Given the description of an element on the screen output the (x, y) to click on. 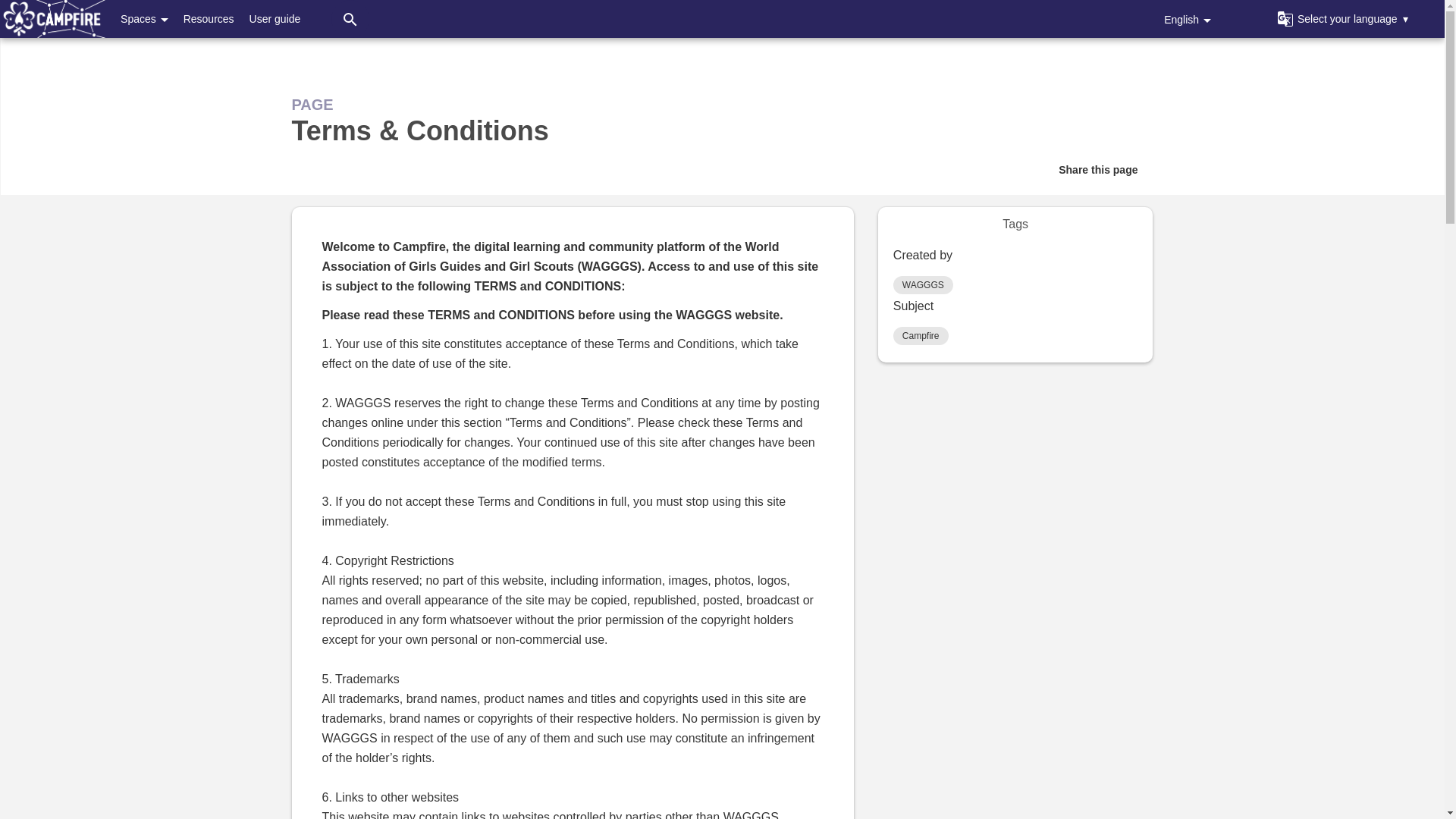
Home (52, 18)
This is where you find all resources (208, 18)
Skip to main content (737, 3)
English (1187, 18)
English (1187, 18)
Click to open search box (350, 18)
This is where you find out how Campfire works (274, 18)
Select your language (1342, 18)
